Given the description of an element on the screen output the (x, y) to click on. 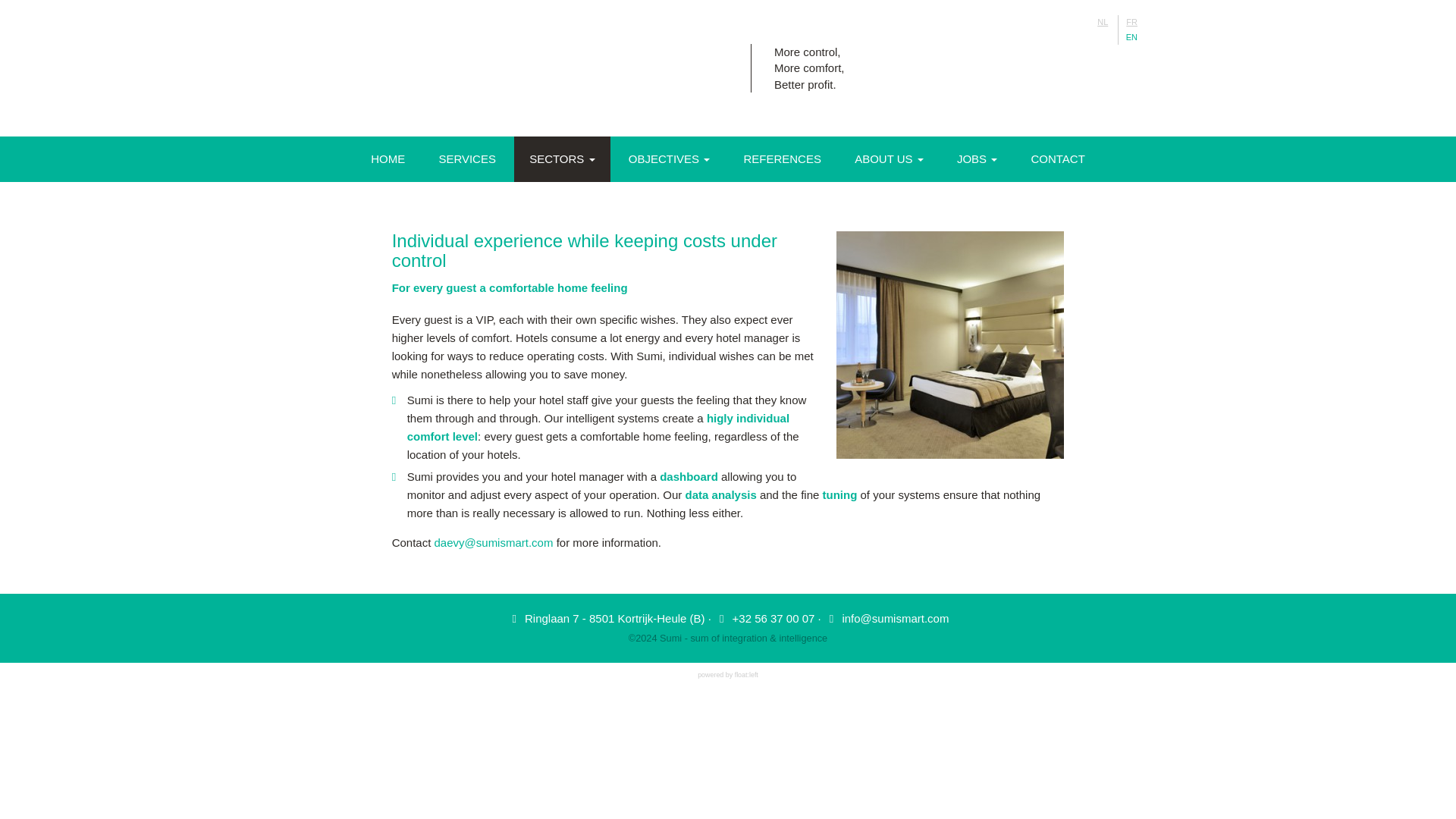
JOBS (976, 158)
References (781, 158)
Objectives (668, 158)
Home (387, 158)
OBJECTIVES (668, 158)
EN (1131, 37)
SERVICES (467, 158)
NL (1102, 22)
REFERENCES (781, 158)
ABOUT US (889, 158)
Sectors (561, 158)
CONTACT (1056, 158)
FR (1131, 22)
HOME (387, 158)
SECTORS (561, 158)
